Given the description of an element on the screen output the (x, y) to click on. 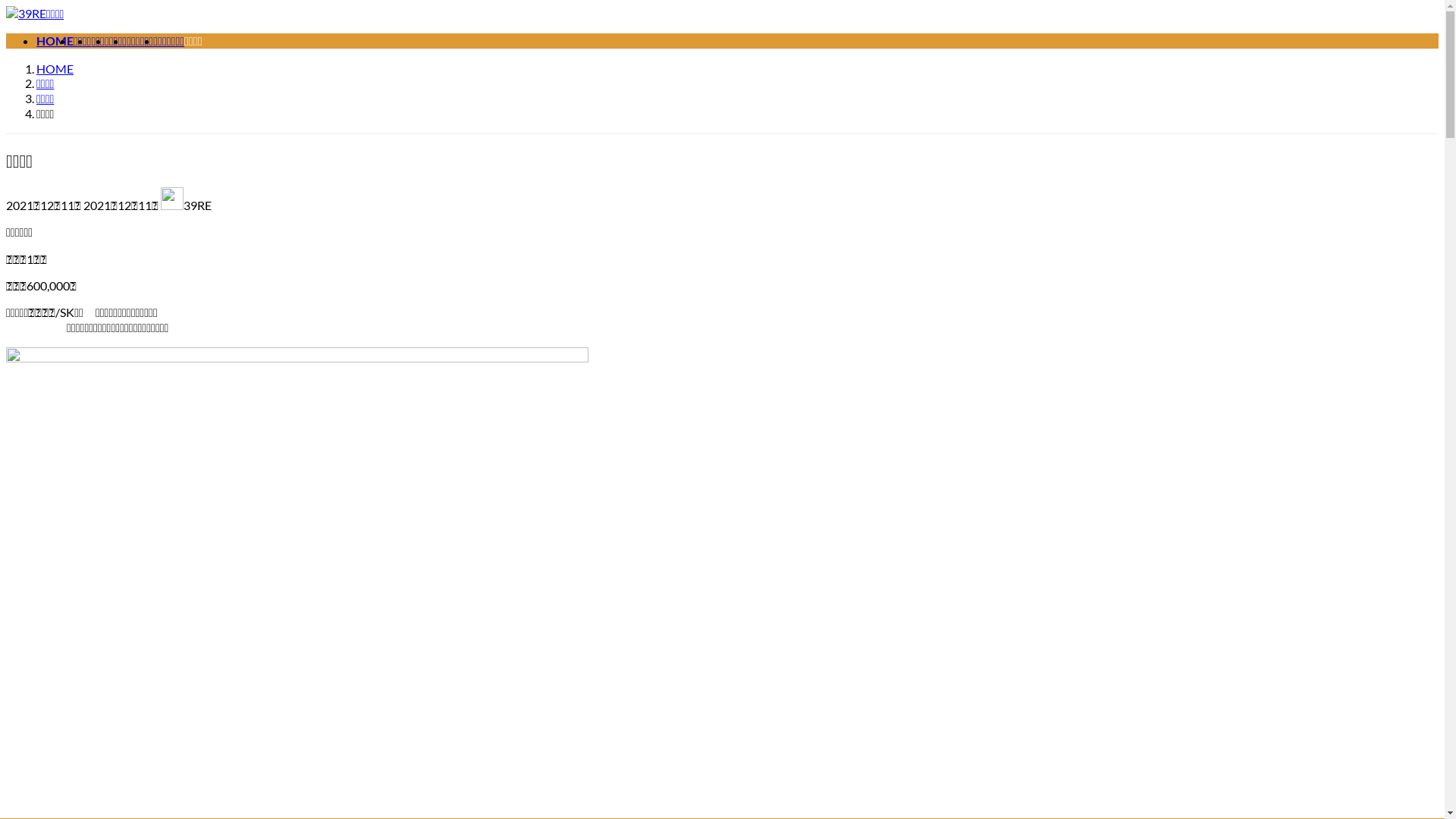
HOME Element type: text (54, 40)
HOME Element type: text (54, 68)
